Given the description of an element on the screen output the (x, y) to click on. 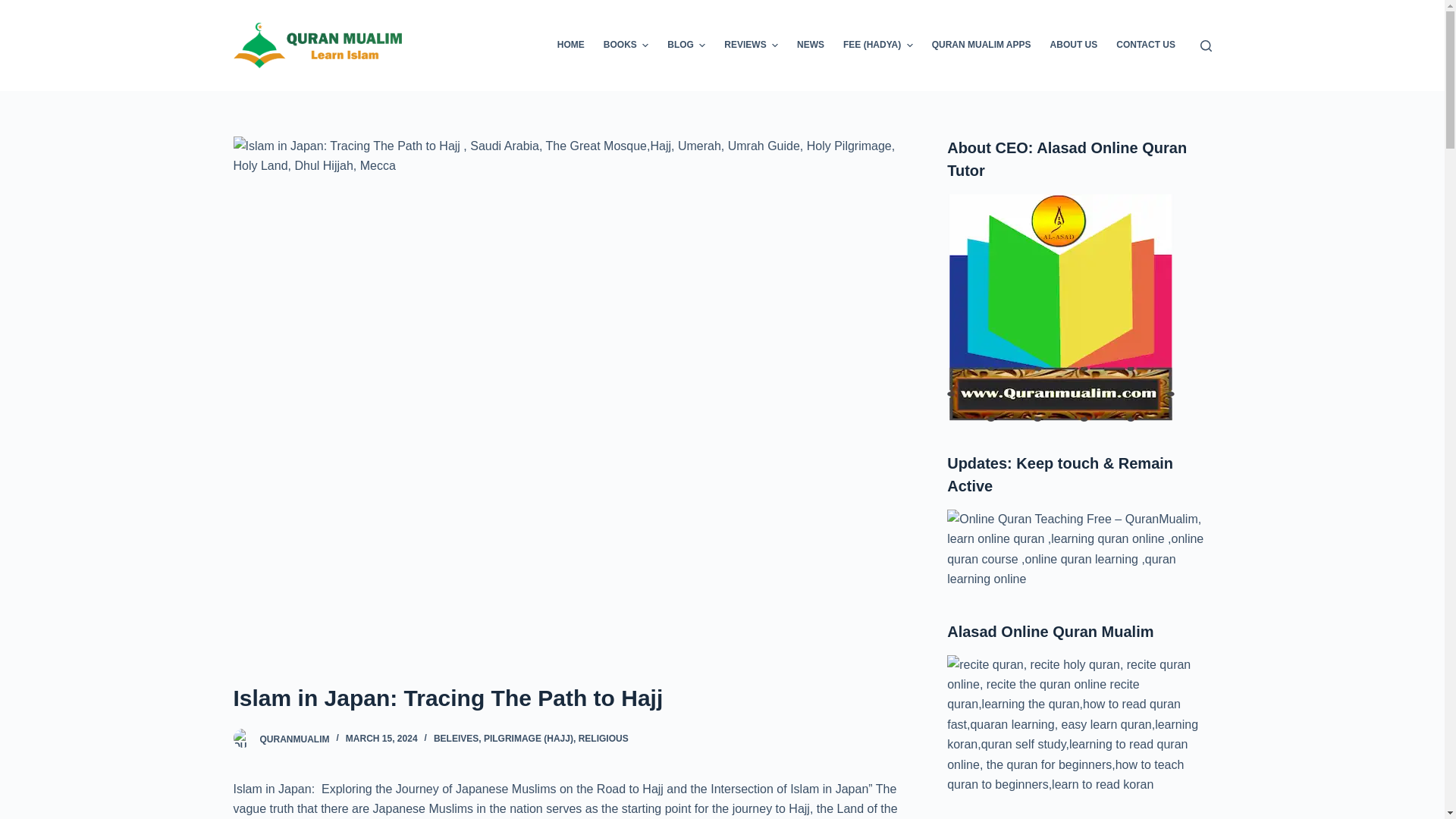
Posts by quranmualim (294, 738)
About CEO (1060, 307)
Alasad Online Quran Mualim (1079, 725)
Islam in Japan: Tracing The Path to Hajj (570, 697)
Skip to content (15, 7)
